Given the description of an element on the screen output the (x, y) to click on. 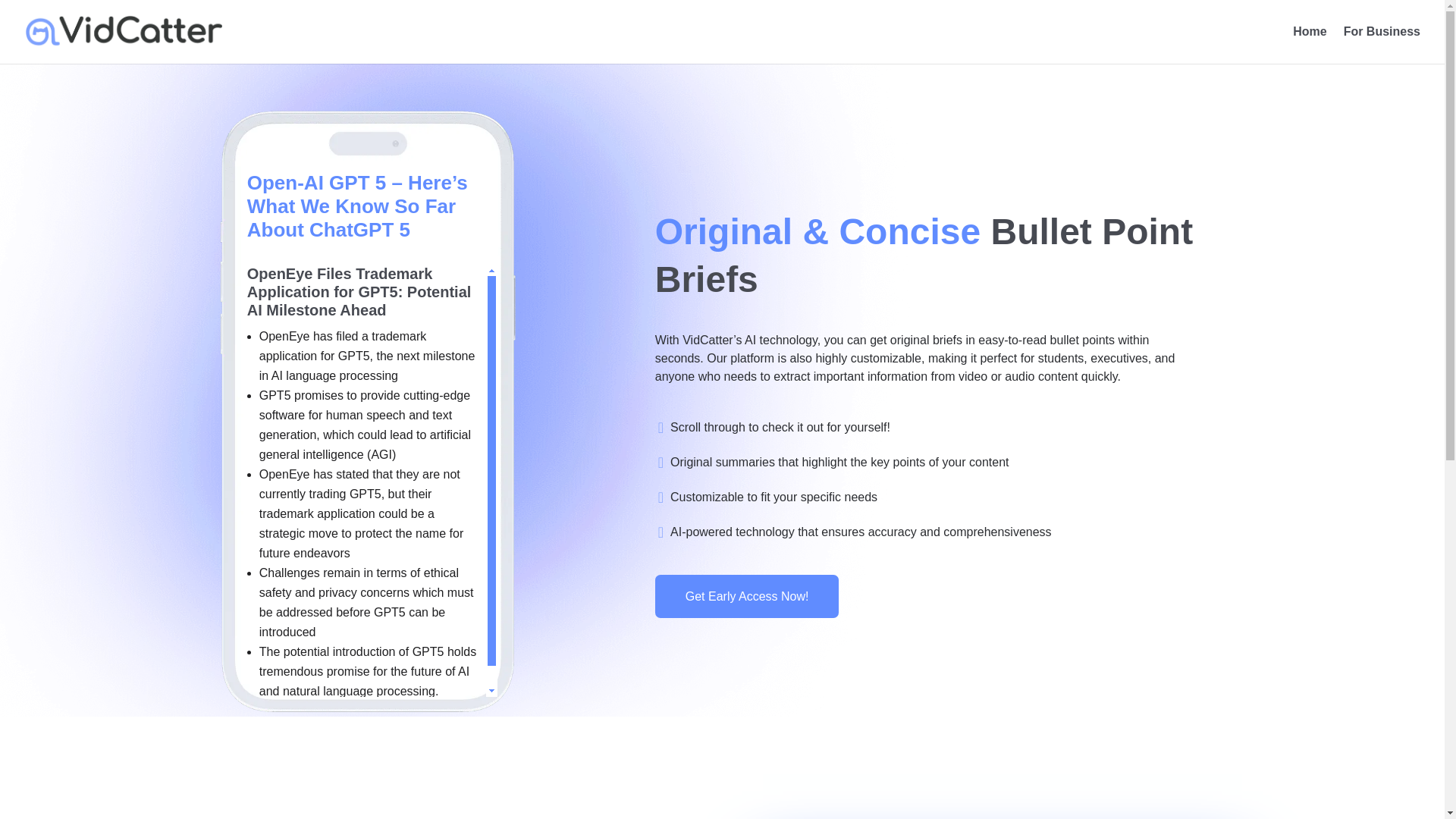
Home (1309, 44)
Get Early Access Now! (747, 596)
For Business (1382, 44)
